Given the description of an element on the screen output the (x, y) to click on. 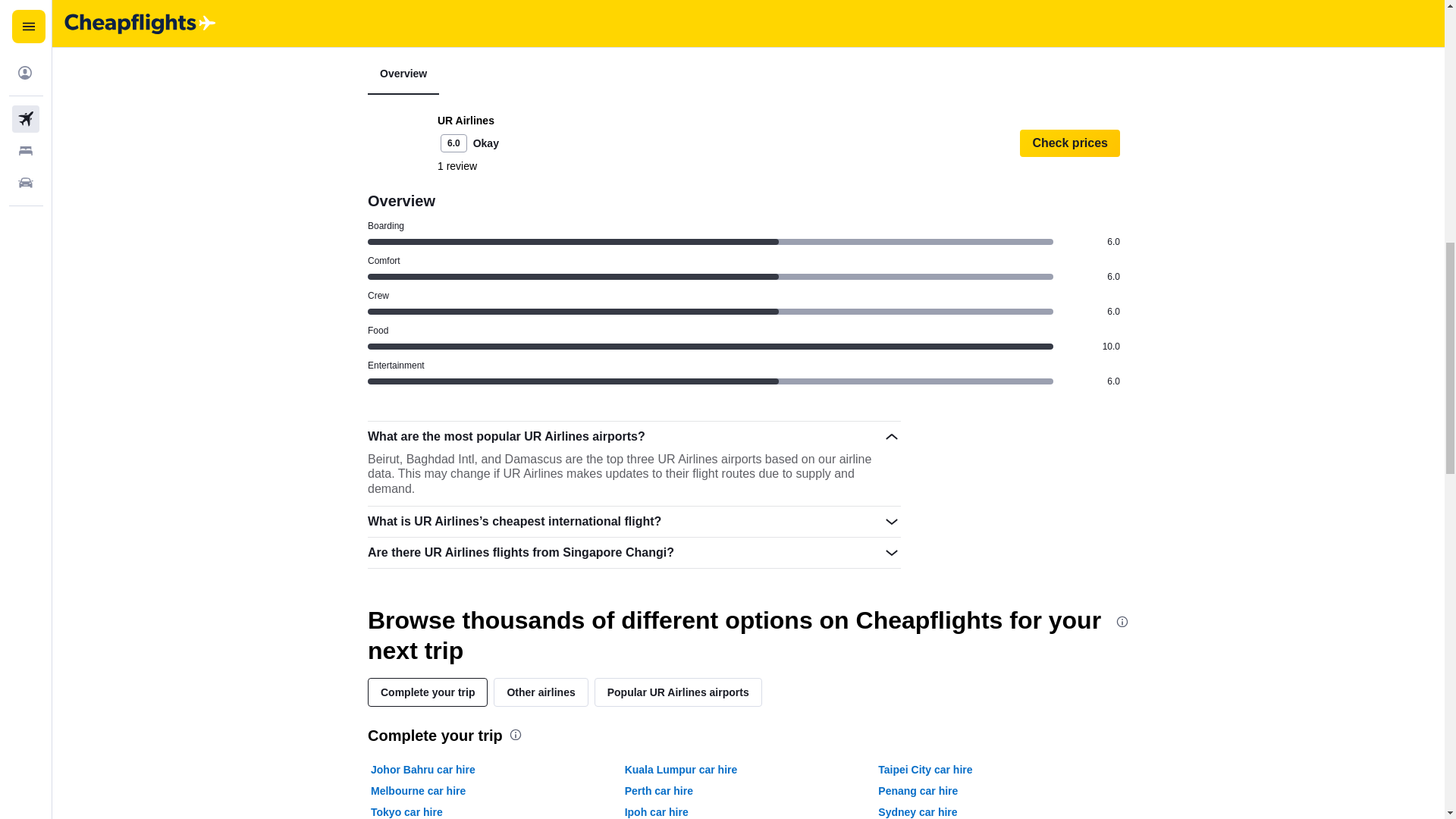
Ipoh car hire (656, 811)
Overview (403, 74)
Popular UR Airlines airports (677, 692)
Penang car hire (917, 790)
Perth car hire (658, 790)
Other airlines (540, 692)
Melbourne car hire (418, 790)
Johor Bahru car hire (423, 769)
Sydney car hire (916, 811)
Taipei City car hire (924, 769)
